Given the description of an element on the screen output the (x, y) to click on. 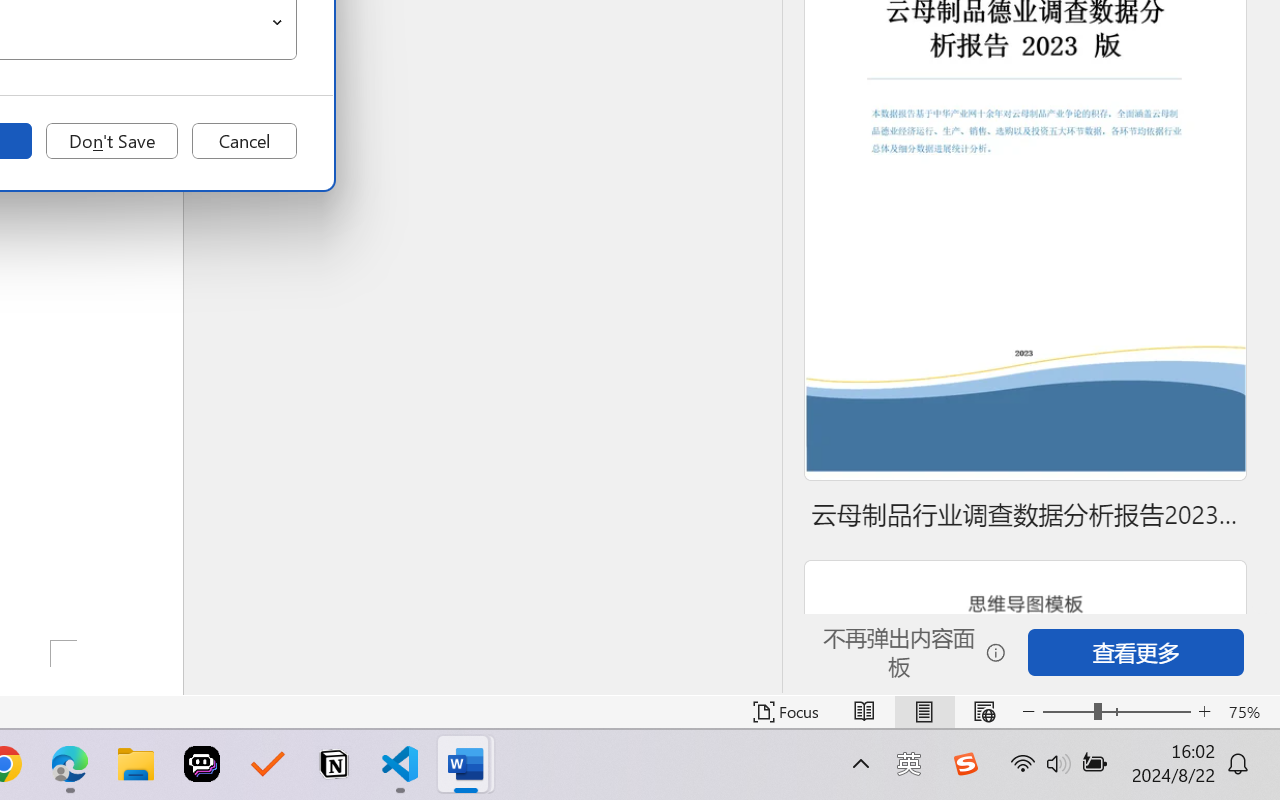
Zoom In (1204, 712)
Zoom Out (1067, 712)
Poe (201, 764)
Read Mode (864, 712)
Don't Save (111, 141)
